Given the description of an element on the screen output the (x, y) to click on. 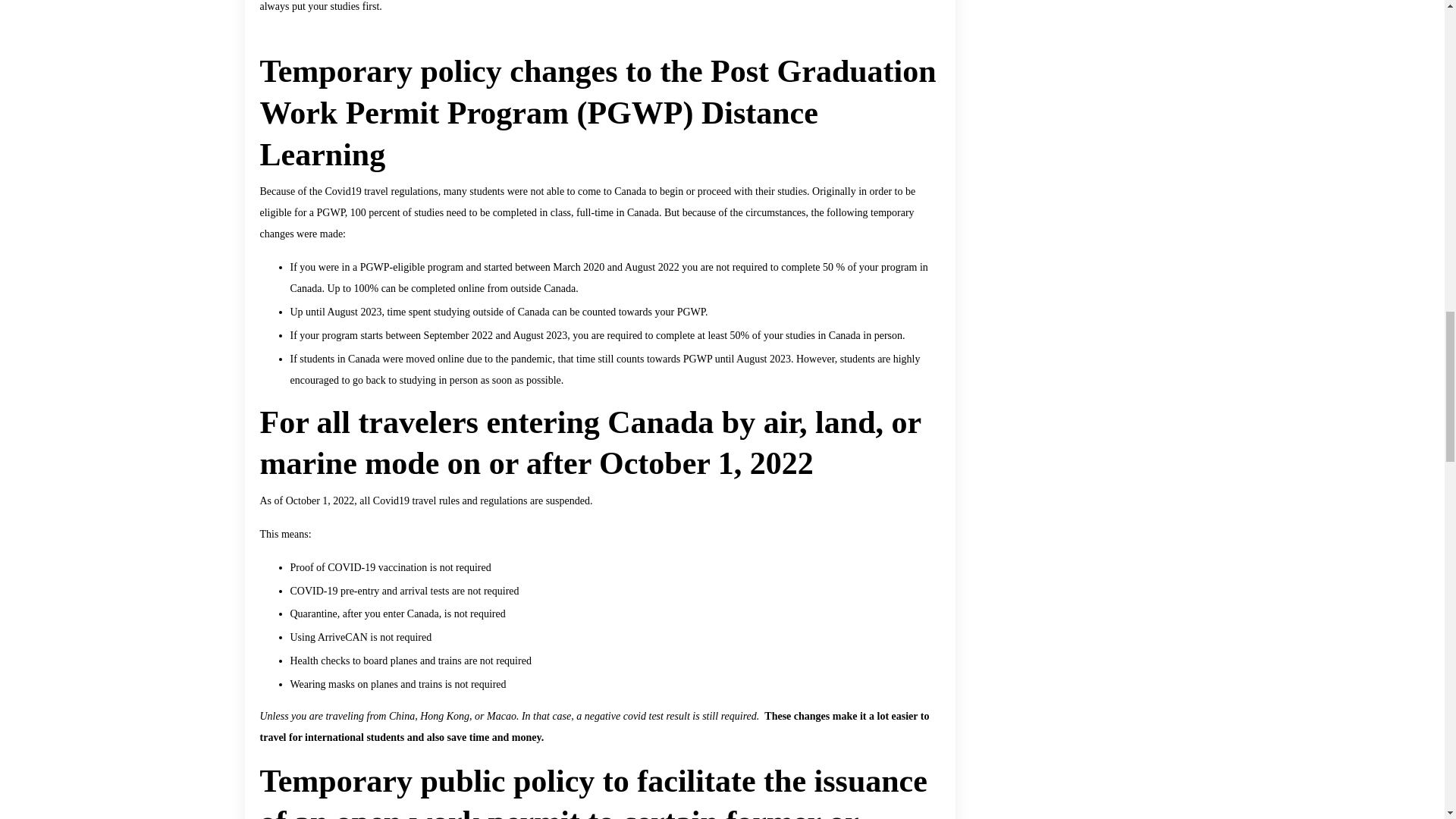
ArriveCAN (342, 636)
